Given the description of an element on the screen output the (x, y) to click on. 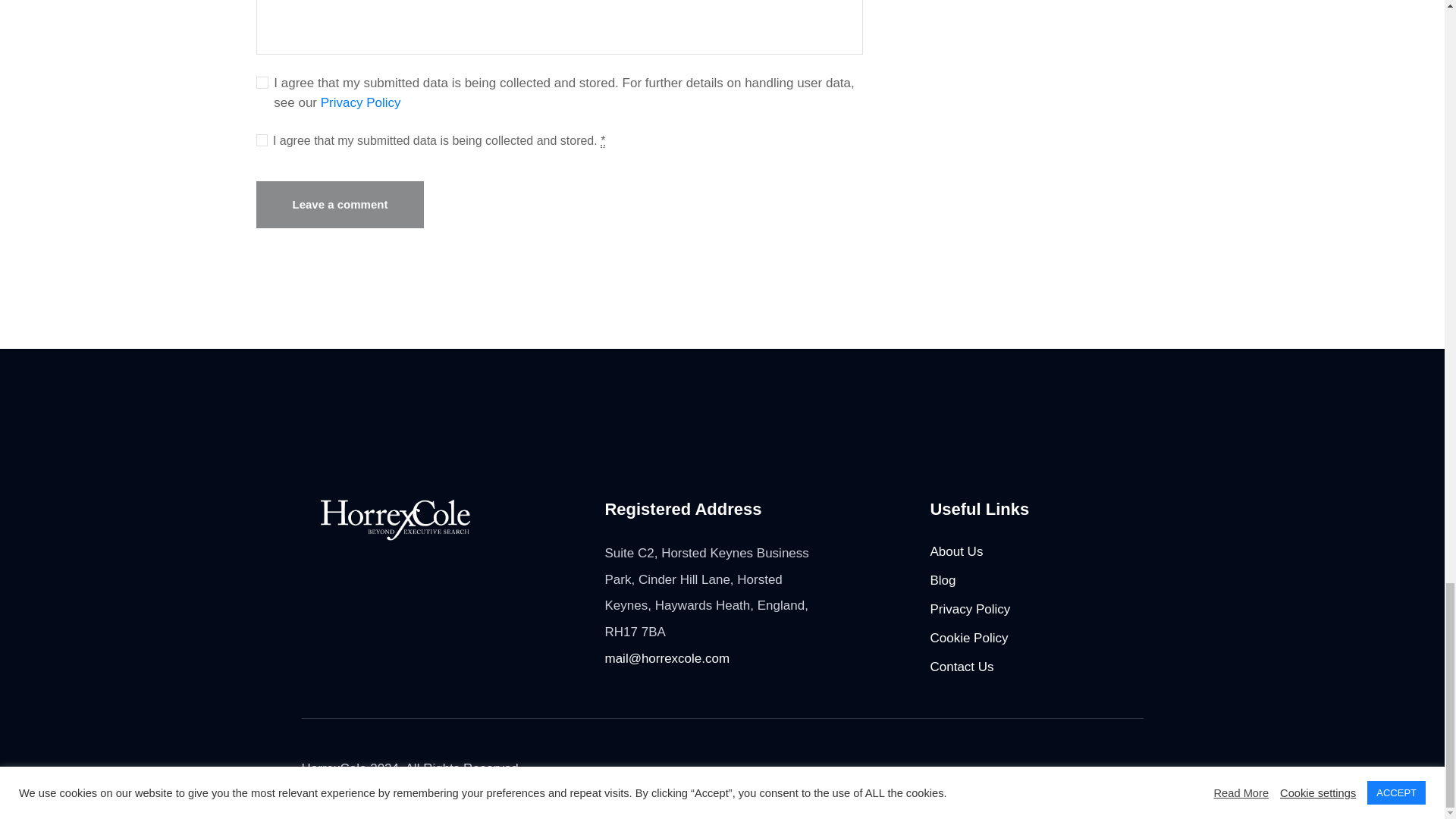
Leave a comment (340, 204)
